Given the description of an element on the screen output the (x, y) to click on. 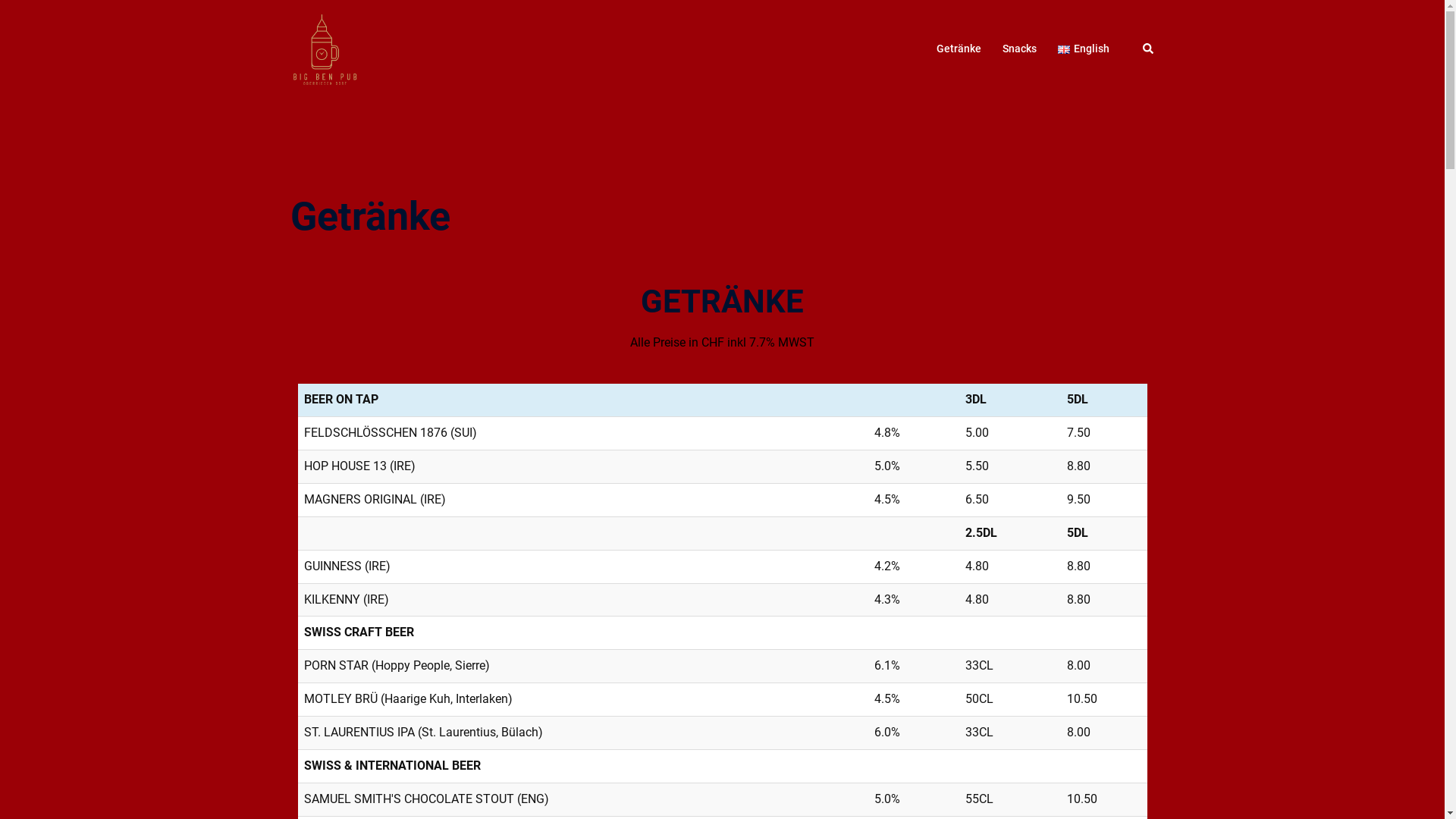
Big Ben Pub Element type: hover (324, 47)
Snacks Element type: text (1019, 49)
English Element type: text (1082, 49)
